Given the description of an element on the screen output the (x, y) to click on. 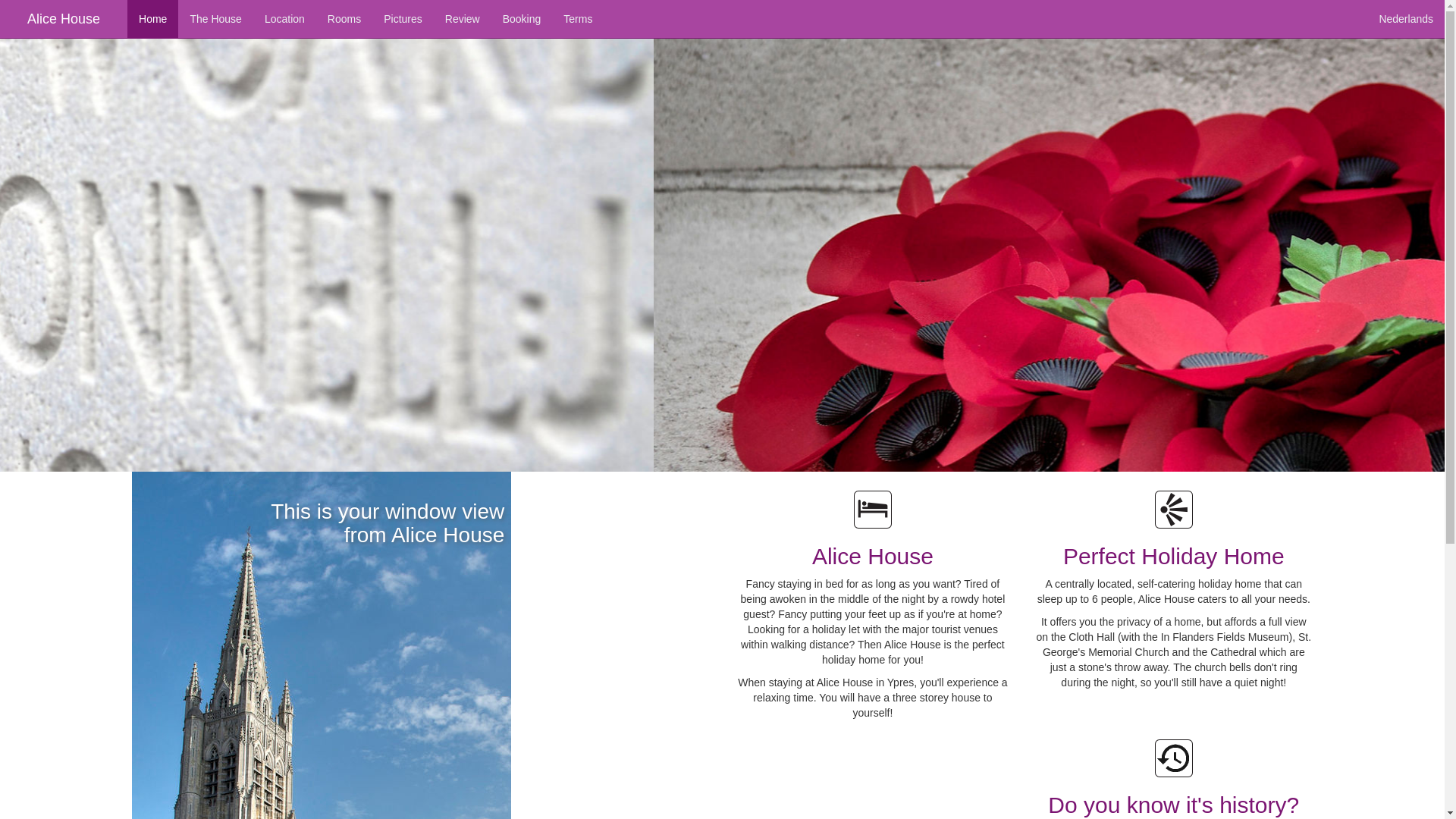
Booking Element type: text (521, 18)
Terms Element type: text (577, 18)
Review Element type: text (462, 18)
Nederlands Element type: text (1405, 18)
Pictures Element type: text (402, 18)
Home
(current) Element type: text (152, 18)
Rooms Element type: text (344, 18)
The House Element type: text (215, 18)
Alice House Element type: text (63, 18)
Location Element type: text (284, 18)
